Given the description of an element on the screen output the (x, y) to click on. 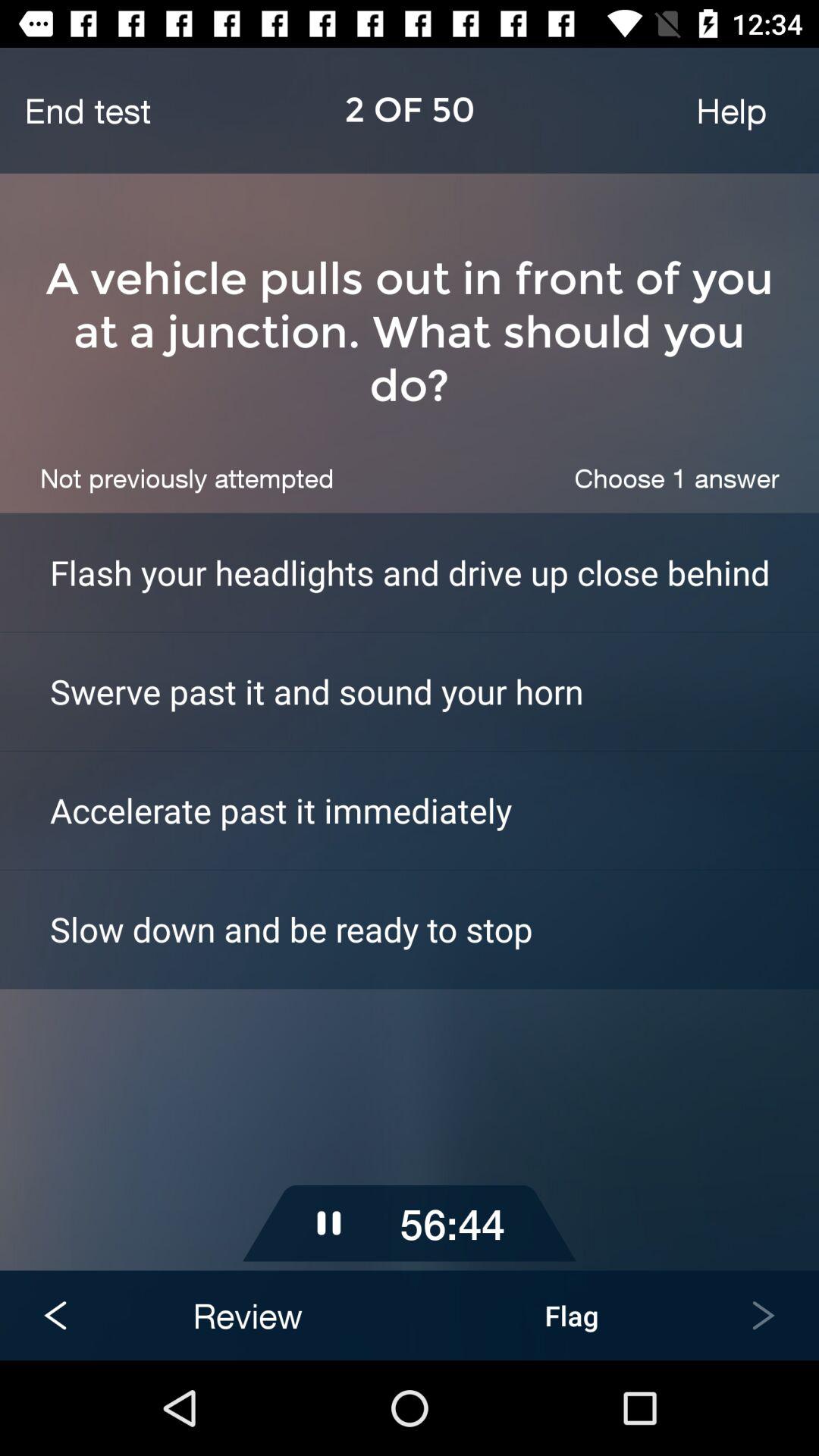
choose the icon below the a vehicle pulls icon (186, 477)
